Given the description of an element on the screen output the (x, y) to click on. 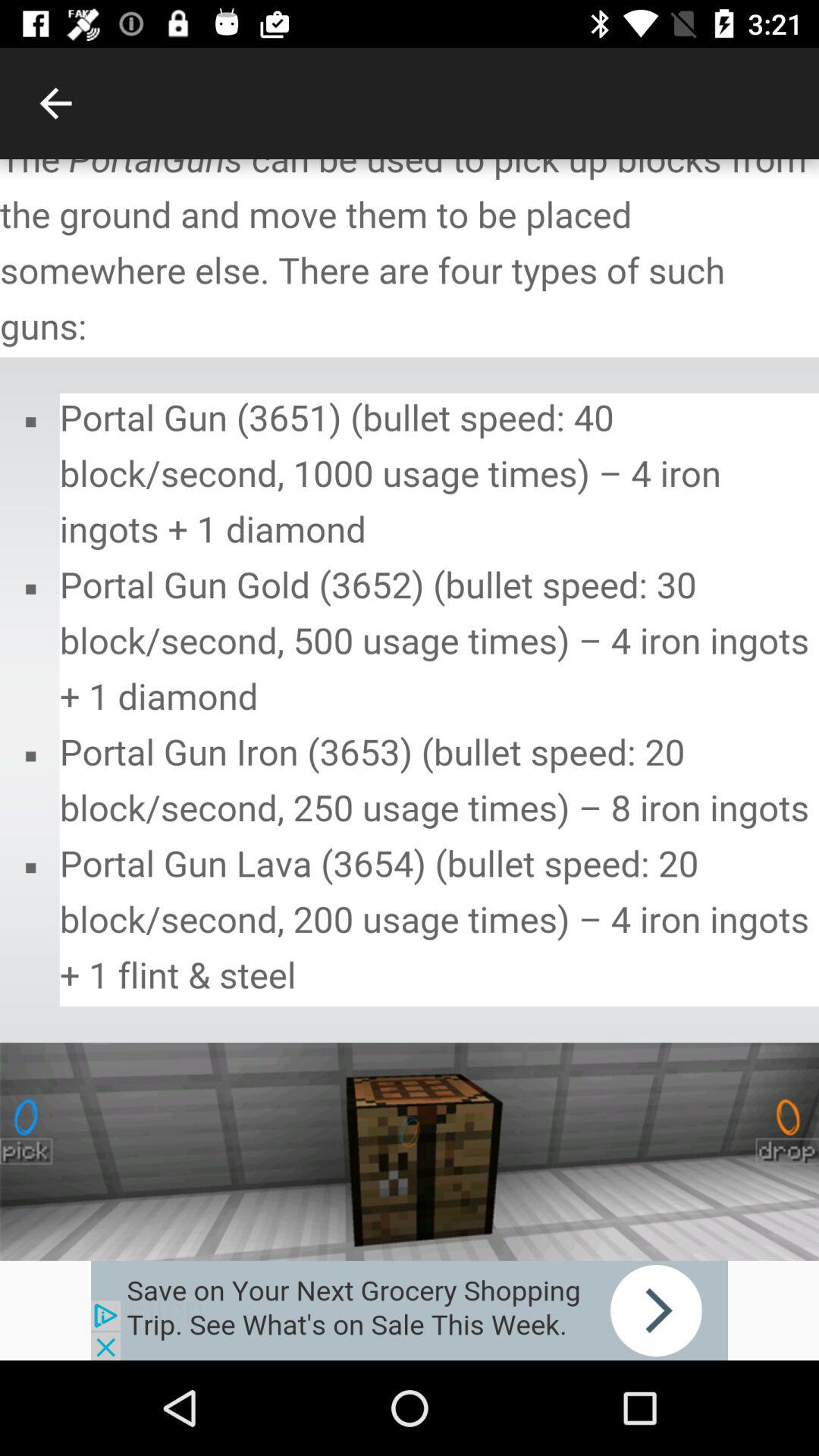
advertisent page (409, 1310)
